Given the description of an element on the screen output the (x, y) to click on. 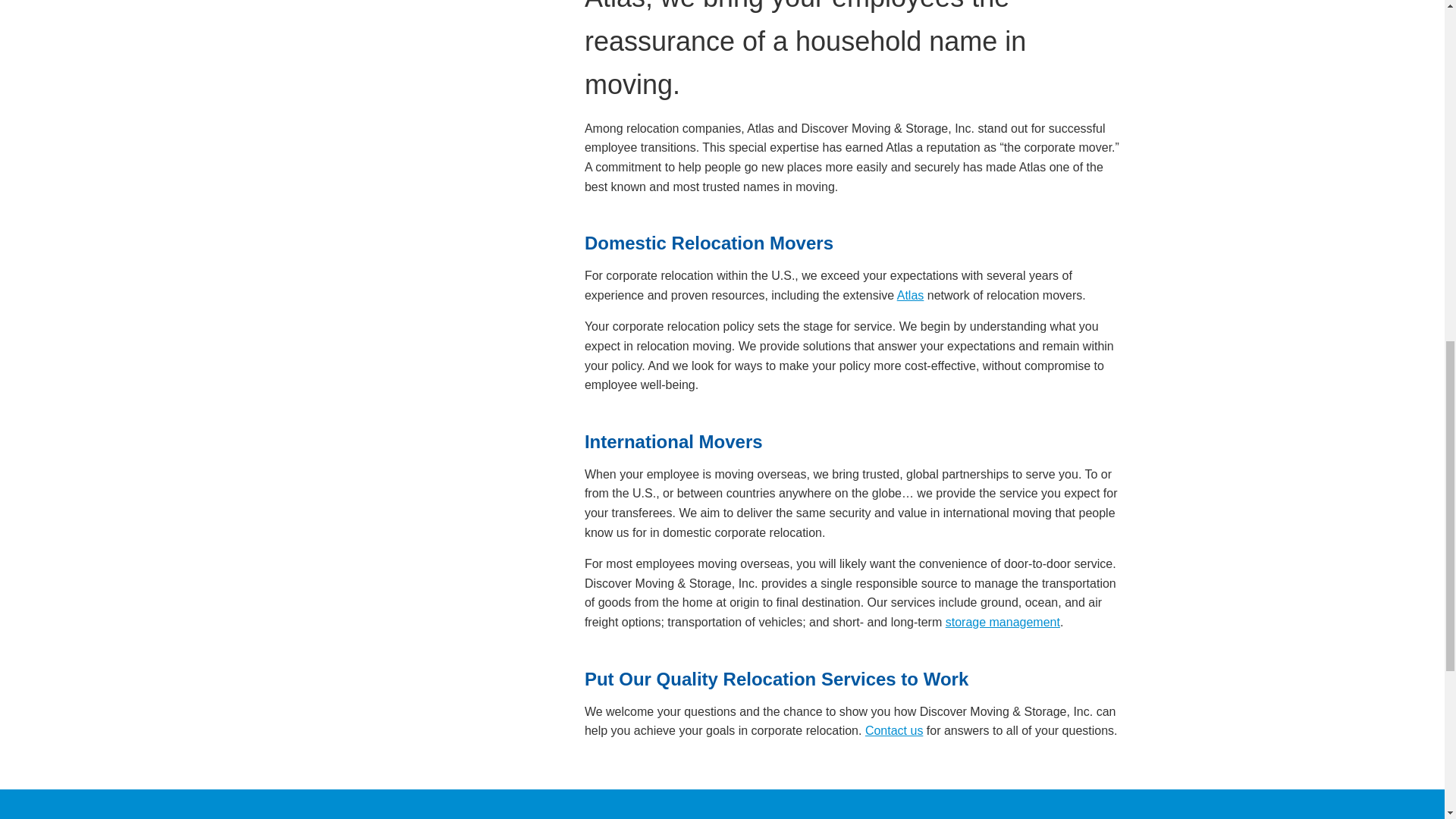
Contact us (893, 730)
storage management (1001, 621)
Atlas (910, 295)
